Given the description of an element on the screen output the (x, y) to click on. 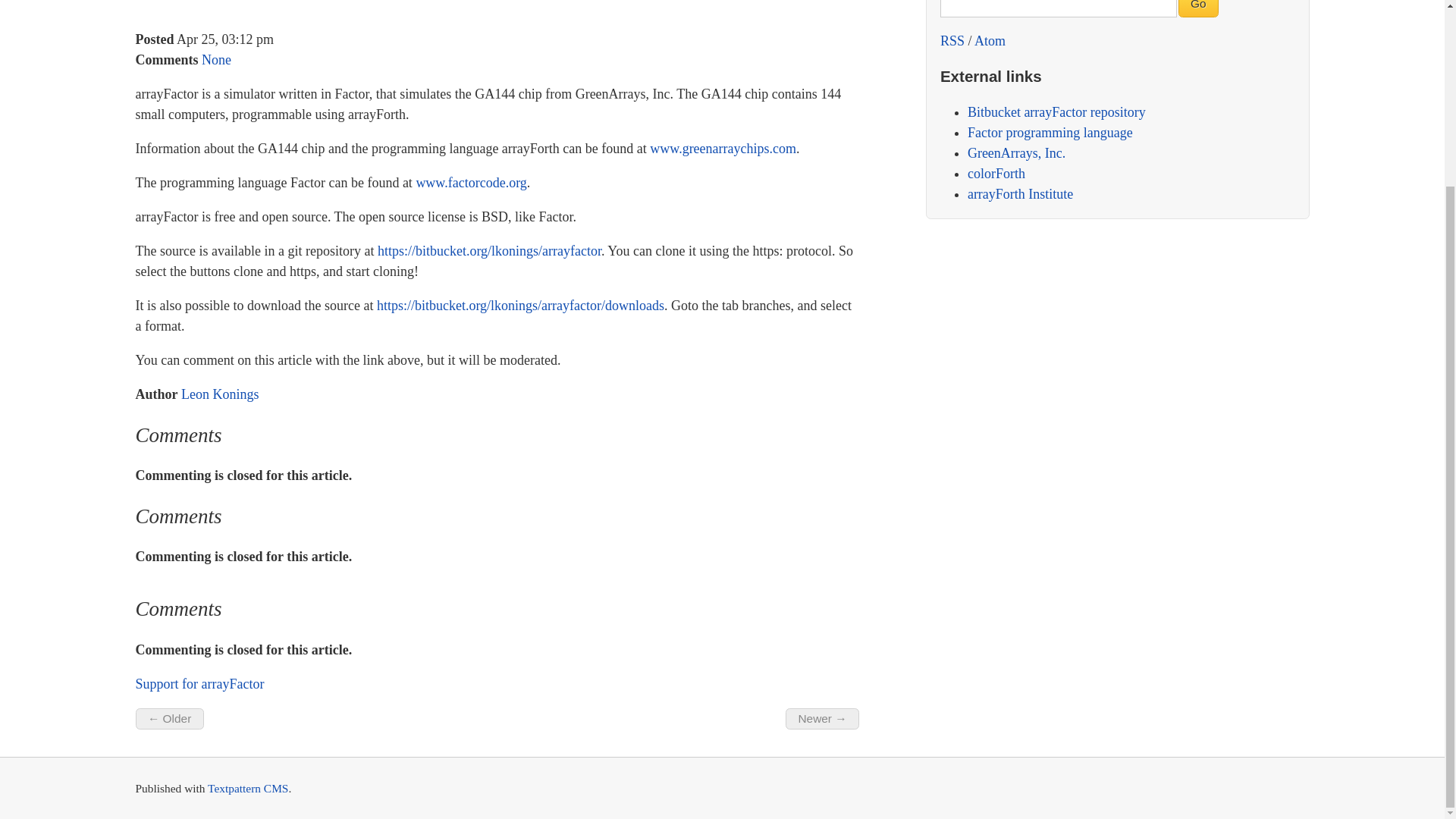
RSS (951, 40)
Provides free online learning experiences. (1020, 193)
Go (1197, 8)
Support for arrayFactor (199, 683)
colorForth (996, 173)
Go (1197, 8)
GreenArrays Inc. produces the GA144 chips. (1016, 152)
Atom (990, 40)
None (216, 59)
Go to the Textpattern website (248, 788)
www.factorcode.org (469, 182)
GreenArrays, Inc. (1016, 152)
Send an email to Leon Konings (199, 683)
Factor programming language (1050, 132)
